Given the description of an element on the screen output the (x, y) to click on. 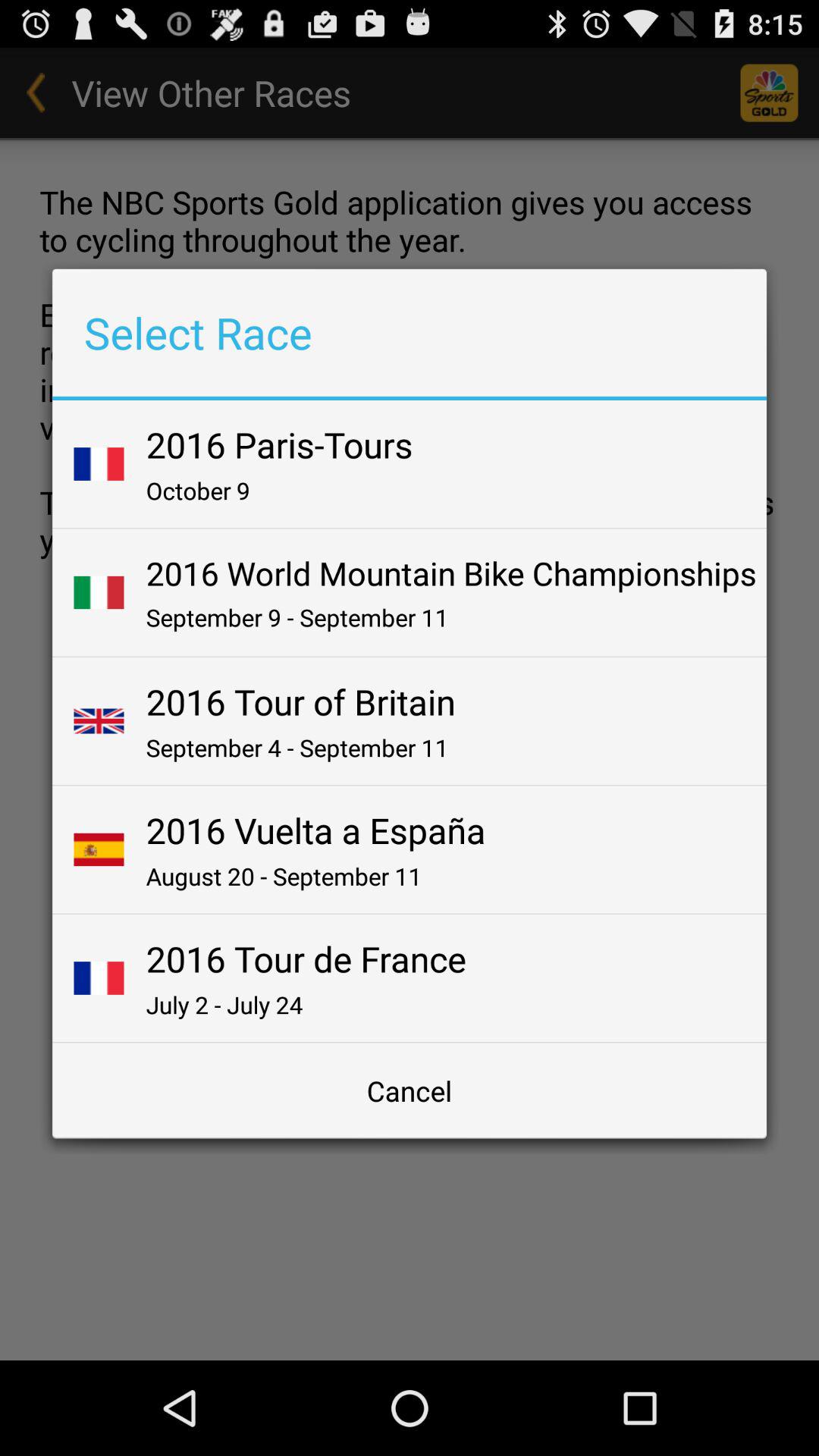
open item below july 2 july item (409, 1090)
